Given the description of an element on the screen output the (x, y) to click on. 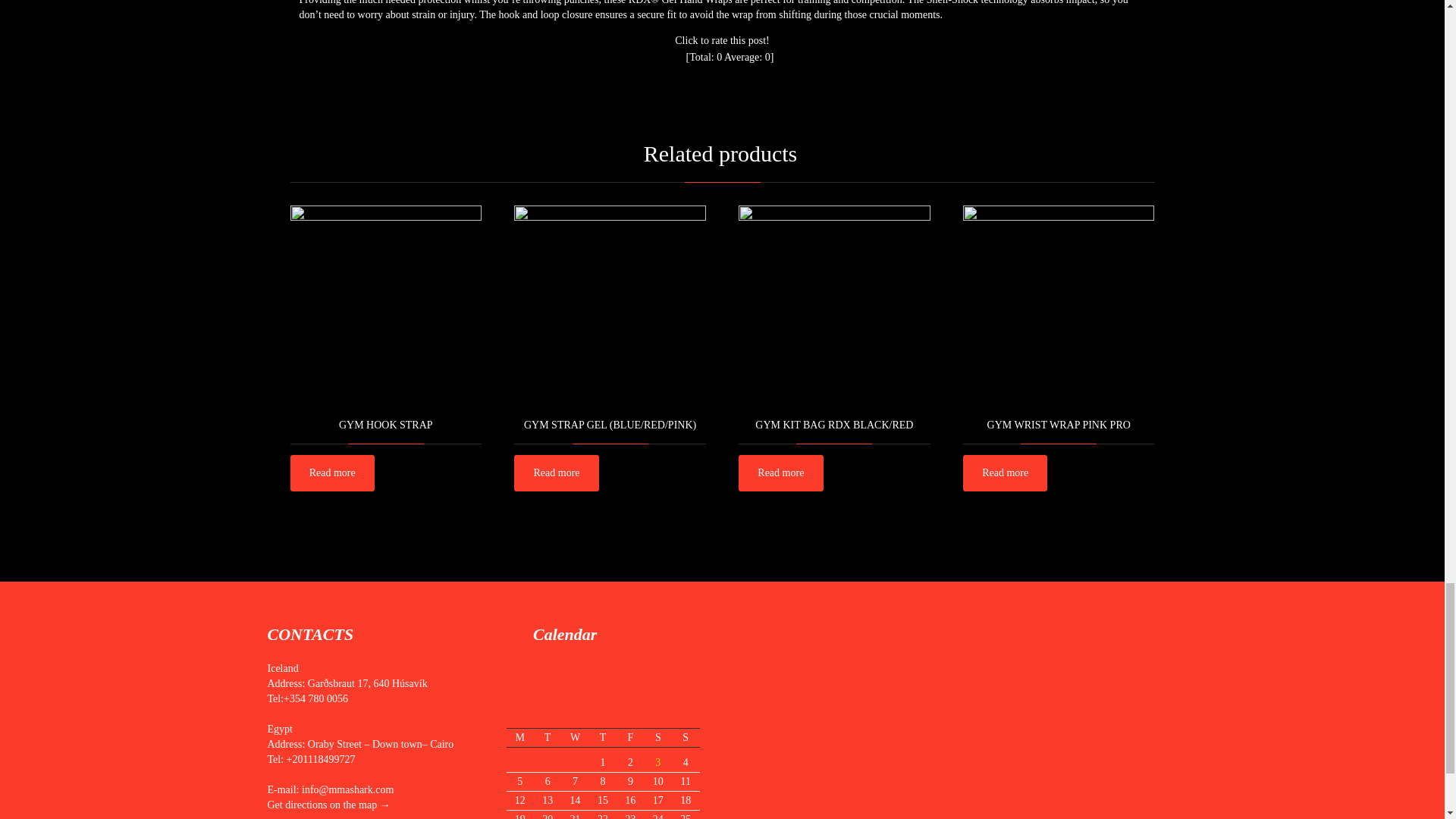
Read more (331, 473)
